Given the description of an element on the screen output the (x, y) to click on. 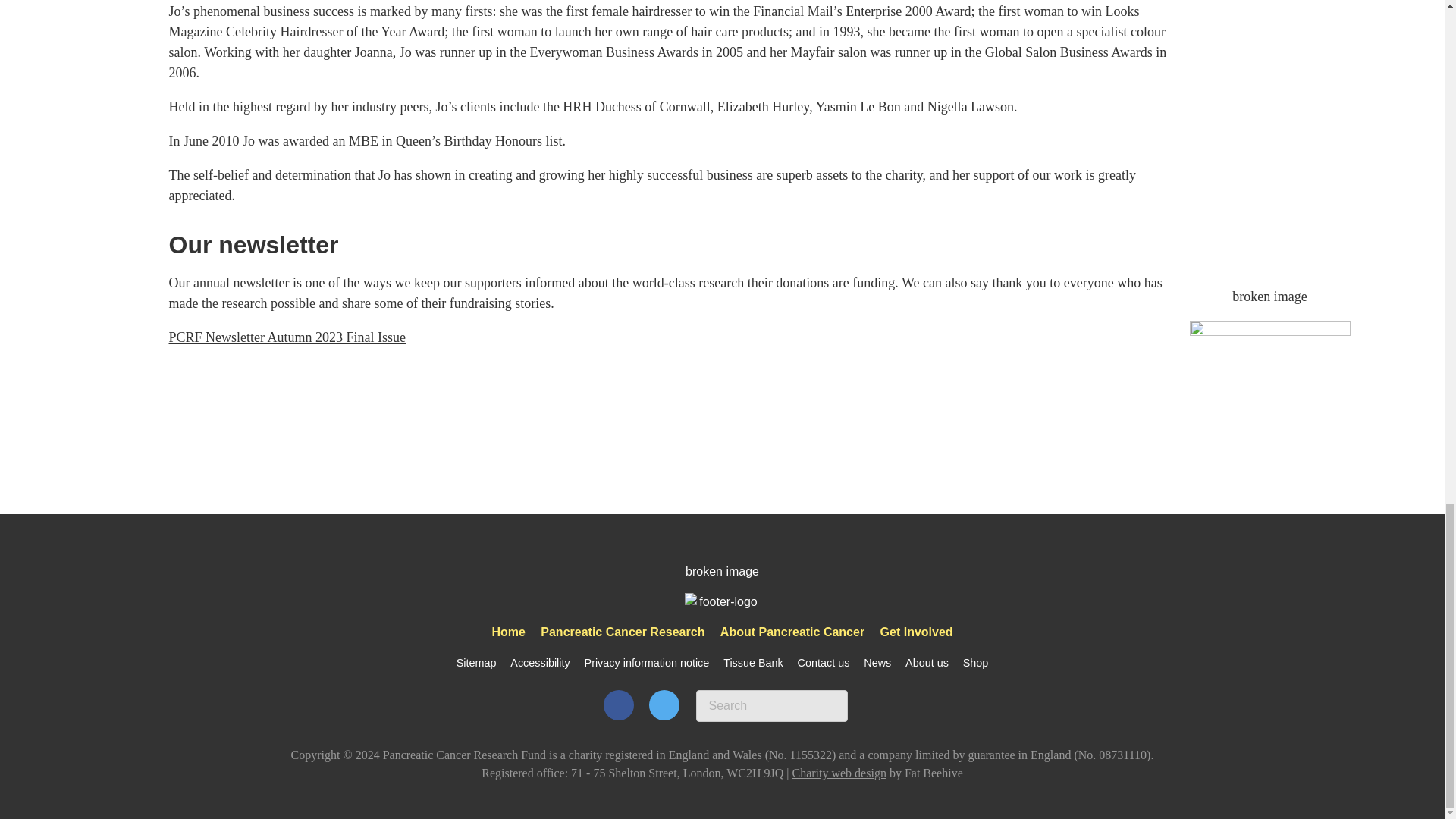
site-search (771, 705)
